Given the description of an element on the screen output the (x, y) to click on. 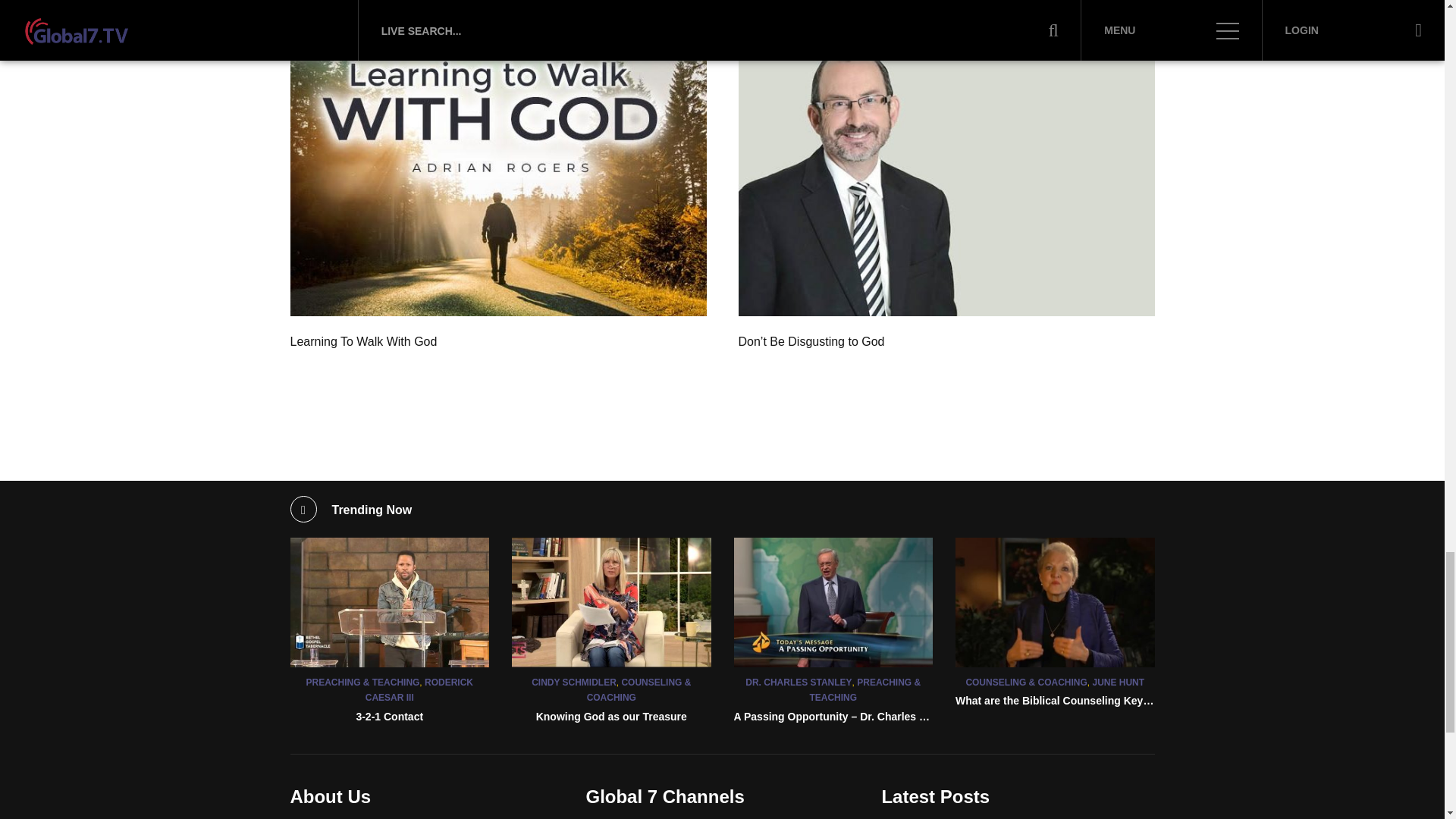
3-2-1 Contact (389, 602)
Learning To Walk With God (497, 177)
Knowing God as our Treasure (611, 716)
Cindy Schmidler (611, 602)
a passion oportunity (833, 602)
3-2-1 Contact (389, 716)
